Given the description of an element on the screen output the (x, y) to click on. 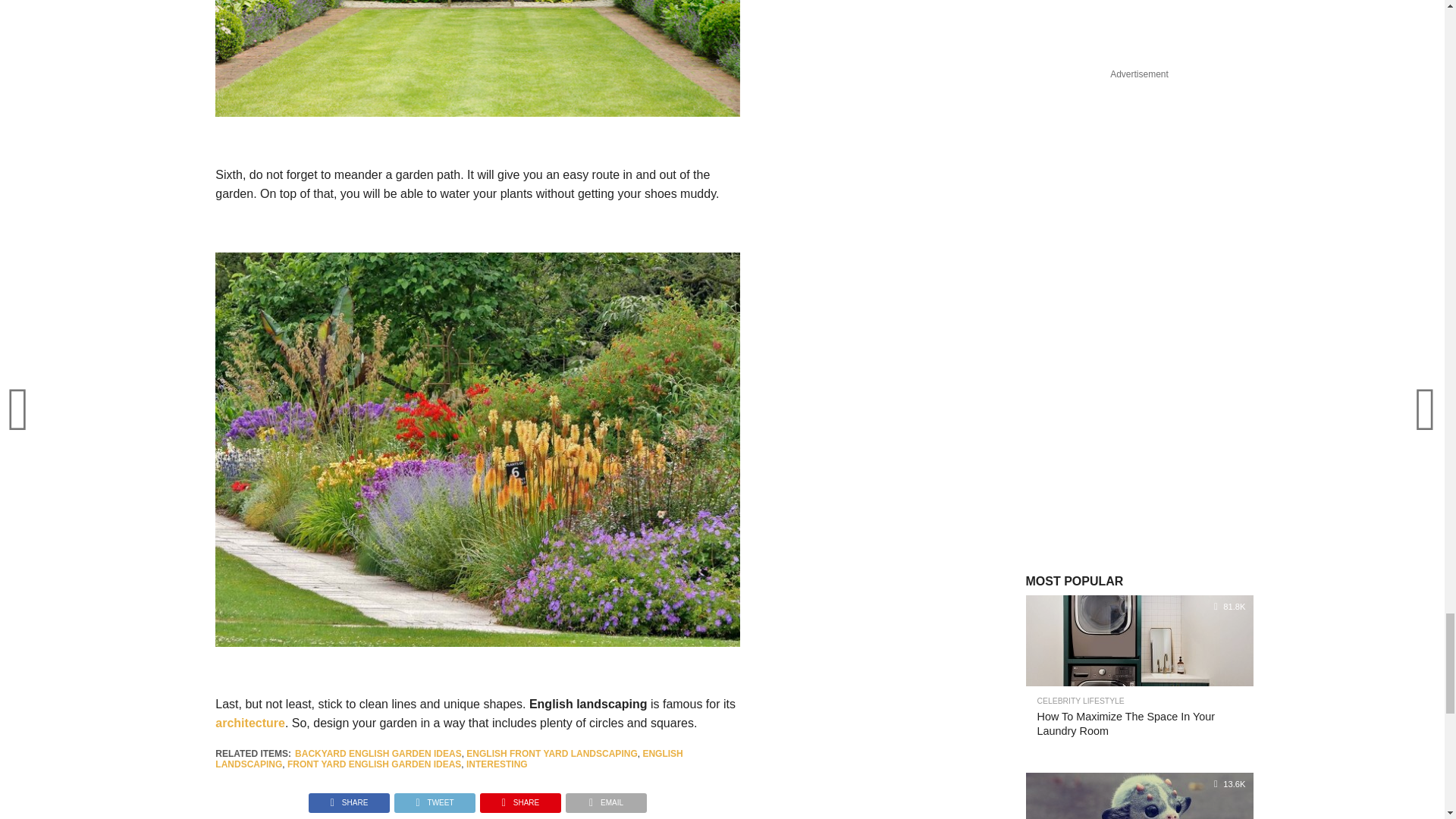
architecture (250, 722)
FRONT YARD ENGLISH GARDEN IDEAS (373, 764)
ENGLISH FRONT YARD LANDSCAPING (551, 753)
TWEET (434, 798)
ENGLISH LANDSCAPING (448, 758)
INTERESTING (496, 764)
BACKYARD ENGLISH GARDEN IDEAS (378, 753)
SHARE (349, 798)
